Given the description of an element on the screen output the (x, y) to click on. 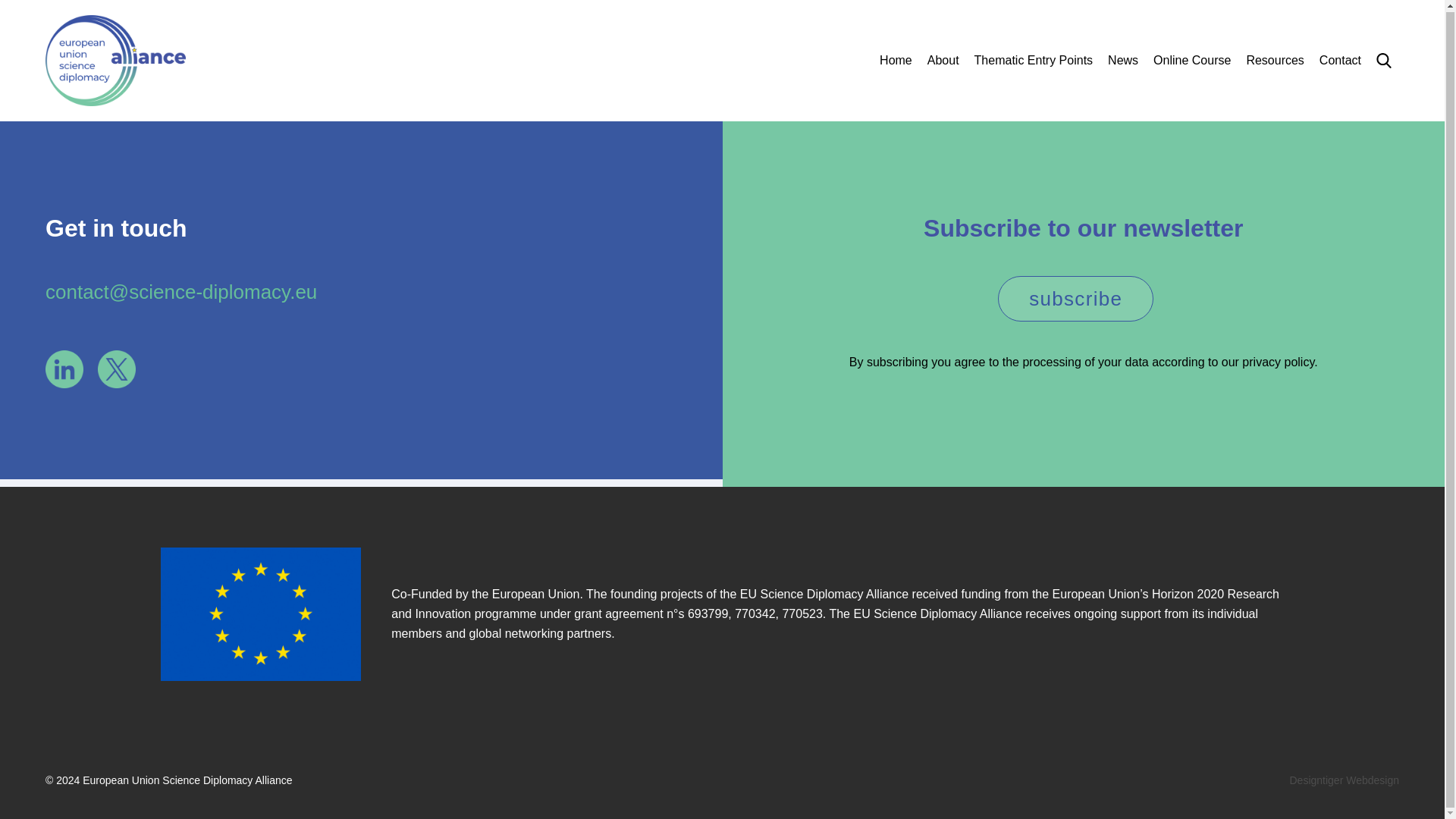
Thematic Entry Points (1033, 59)
Search (1314, 182)
Online Course (1191, 59)
Search (1383, 60)
Webdesign Wien - Webdesign Agentur Designtiger (1343, 779)
Resources (1274, 59)
LinkedIn (63, 369)
subscribe (1075, 298)
Contact (1340, 59)
Contact (1340, 59)
Designtiger Webdesign (1343, 779)
